Given the description of an element on the screen output the (x, y) to click on. 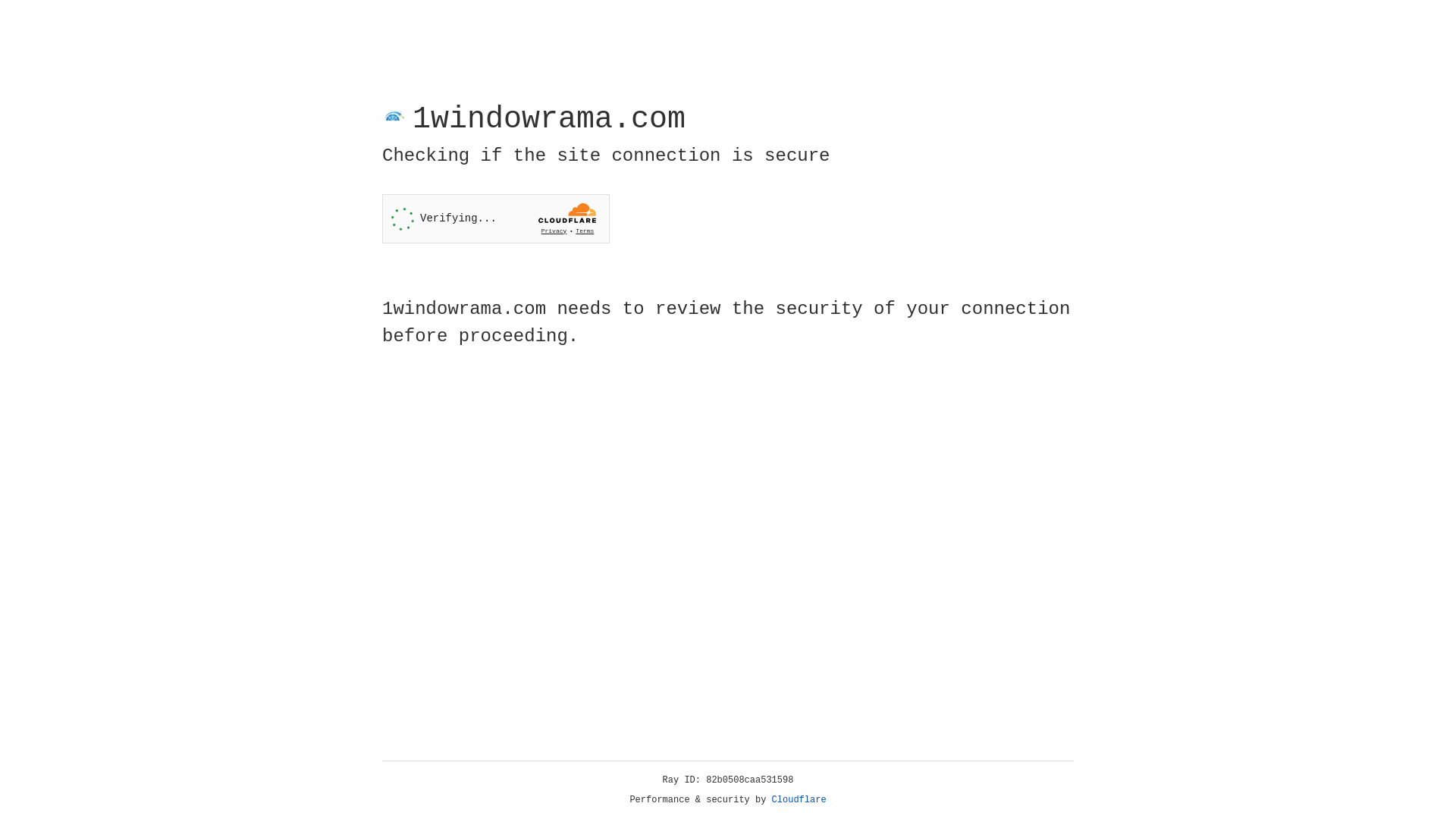
Widget containing a Cloudflare security challenge Element type: hover (495, 218)
Cloudflare Element type: text (798, 799)
